Given the description of an element on the screen output the (x, y) to click on. 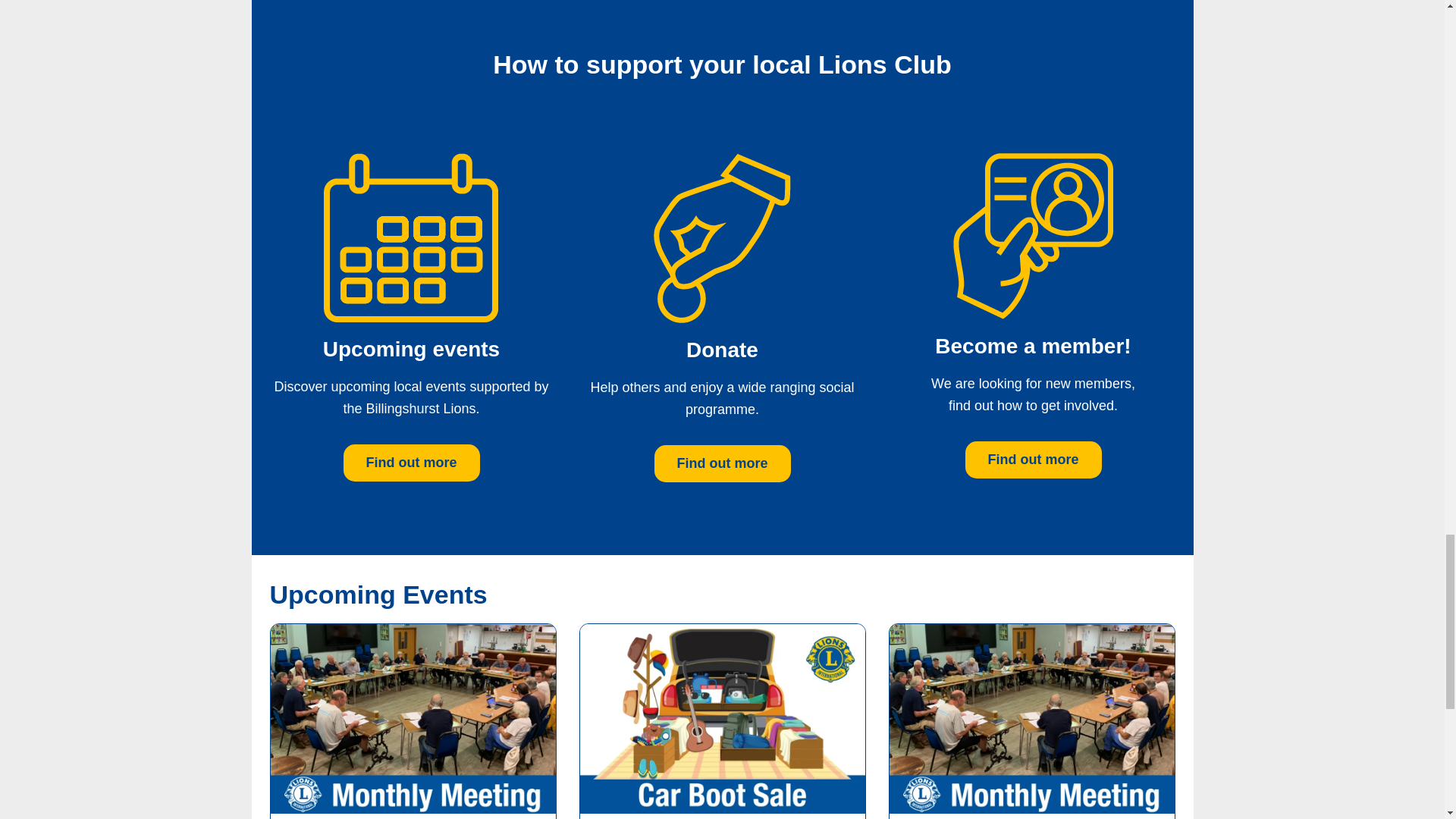
Find out more (1031, 459)
Find out more (410, 462)
Find out more (721, 463)
